Given the description of an element on the screen output the (x, y) to click on. 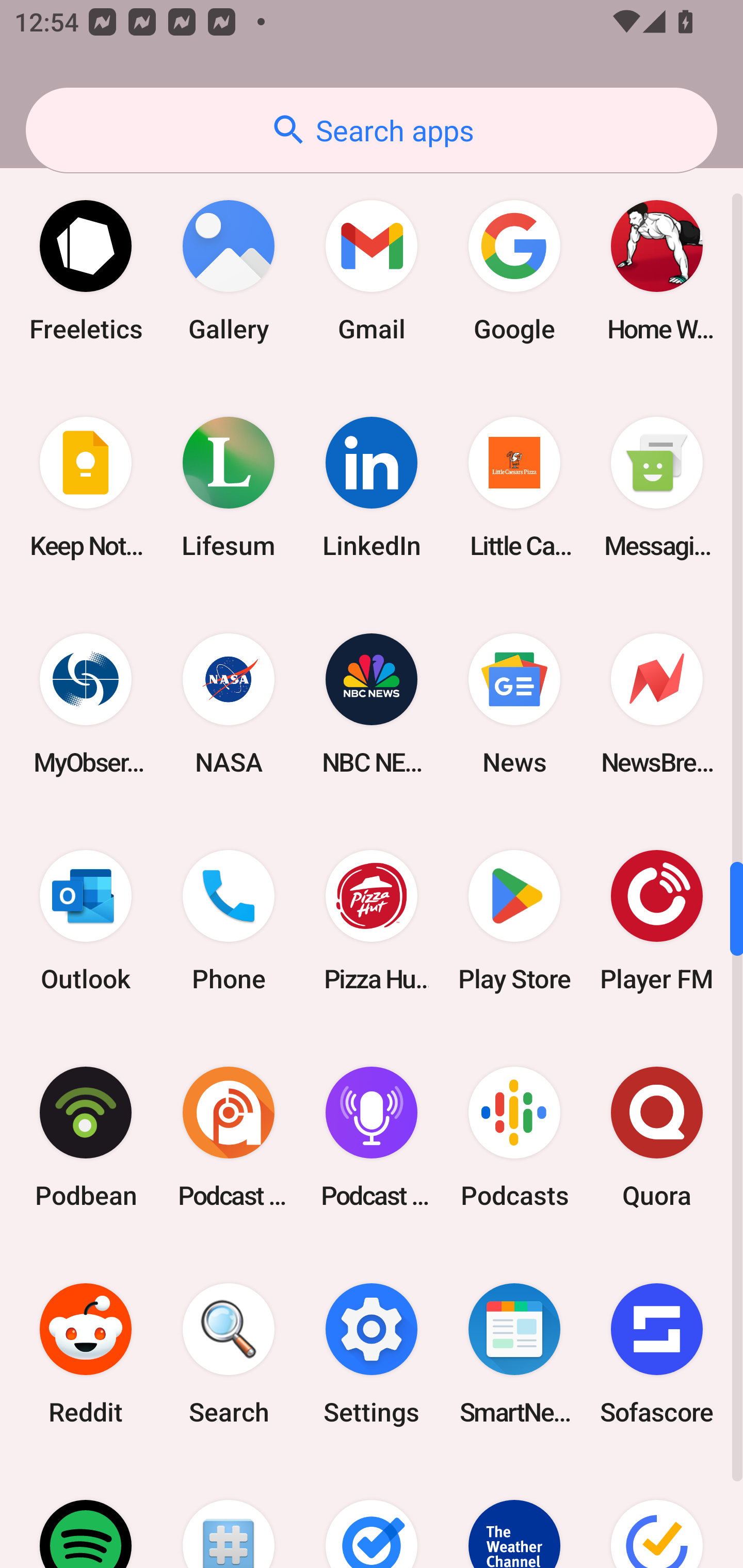
  Search apps (371, 130)
Freeletics (85, 271)
Gallery (228, 271)
Gmail (371, 271)
Google (514, 271)
Home Workout (656, 271)
Keep Notes (85, 487)
Lifesum (228, 487)
LinkedIn (371, 487)
Little Caesars Pizza (514, 487)
Messaging (656, 487)
MyObservatory (85, 703)
NASA (228, 703)
NBC NEWS (371, 703)
News (514, 703)
NewsBreak (656, 703)
Outlook (85, 920)
Phone (228, 920)
Pizza Hut HK & Macau (371, 920)
Play Store (514, 920)
Player FM (656, 920)
Podbean (85, 1136)
Podcast Addict (228, 1136)
Podcast Player (371, 1136)
Podcasts (514, 1136)
Quora (656, 1136)
Reddit (85, 1353)
Search (228, 1353)
Settings (371, 1353)
SmartNews (514, 1353)
Sofascore (656, 1353)
Spotify (85, 1515)
Superuser (228, 1515)
Tasks (371, 1515)
The Weather Channel (514, 1515)
TickTick (656, 1515)
